Given the description of an element on the screen output the (x, y) to click on. 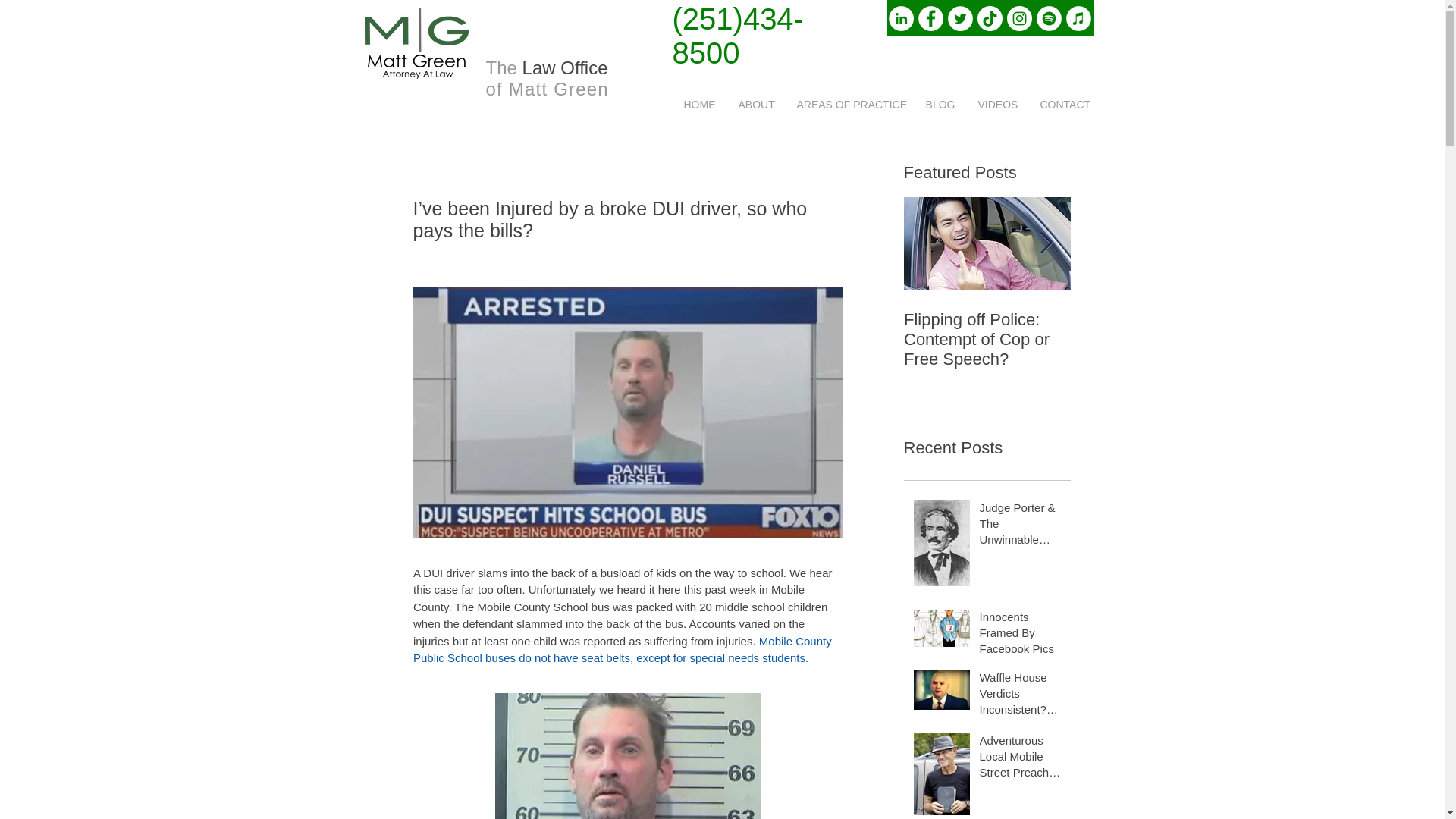
Innocents Framed By Facebook Pics (1020, 635)
HOME (698, 105)
CONTACT (1063, 105)
Waffle House Verdicts Inconsistent? Can Conviction Stand? (1020, 696)
ABOUT (755, 105)
AREAS OF PRACTICE (850, 105)
BLOG (940, 105)
Flipping off Police: Contempt of Cop or Free Speech? (987, 339)
VIDEOS (996, 105)
